Given the description of an element on the screen output the (x, y) to click on. 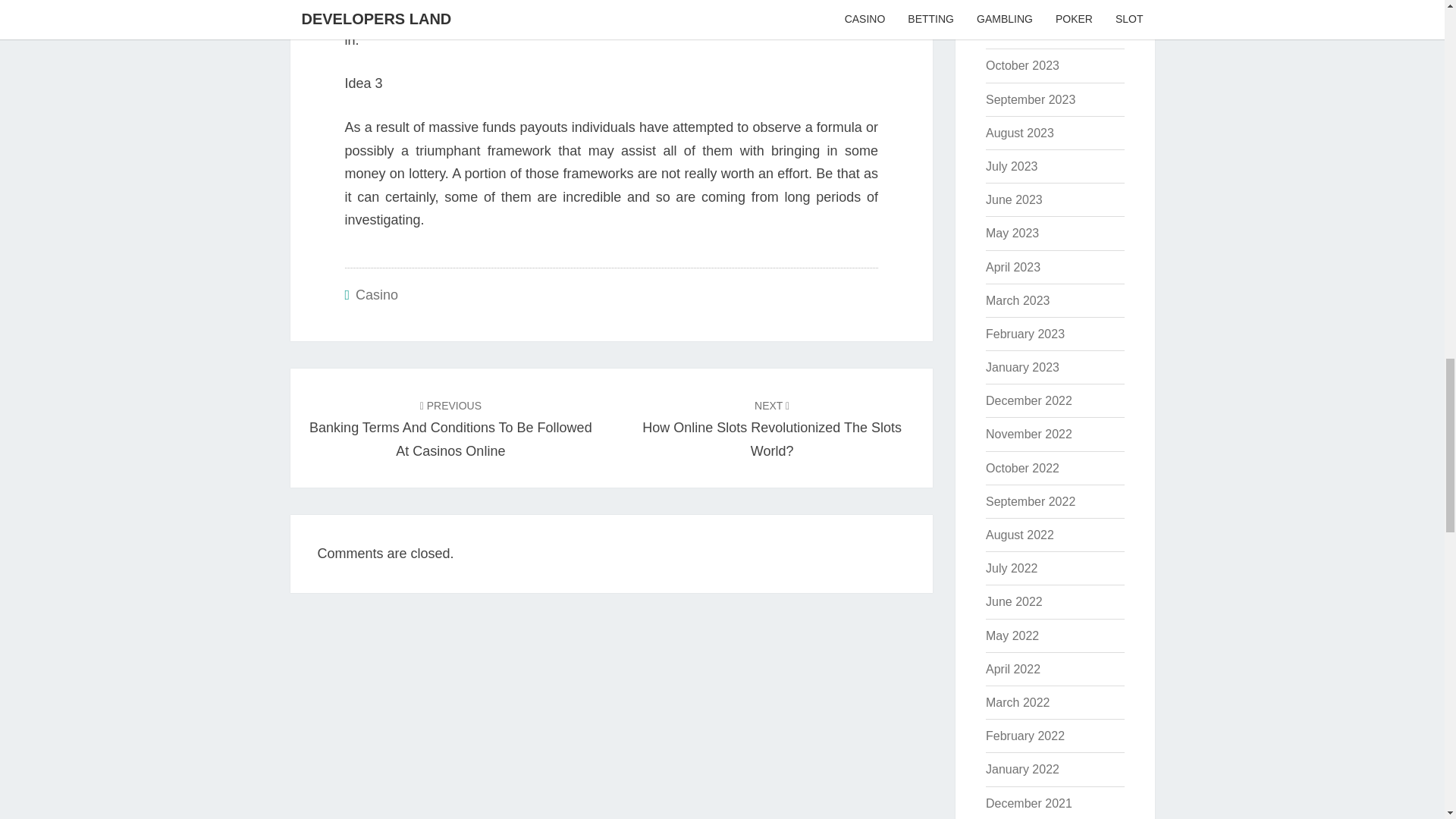
January 2023 (1022, 367)
Casino (376, 294)
December 2022 (1028, 400)
December 2023 (1028, 2)
August 2023 (1019, 132)
September 2023 (1030, 99)
October 2023 (771, 427)
June 2023 (1022, 65)
July 2023 (1013, 199)
May 2023 (1011, 165)
November 2023 (1012, 232)
February 2023 (1028, 31)
March 2023 (1024, 333)
